Given the description of an element on the screen output the (x, y) to click on. 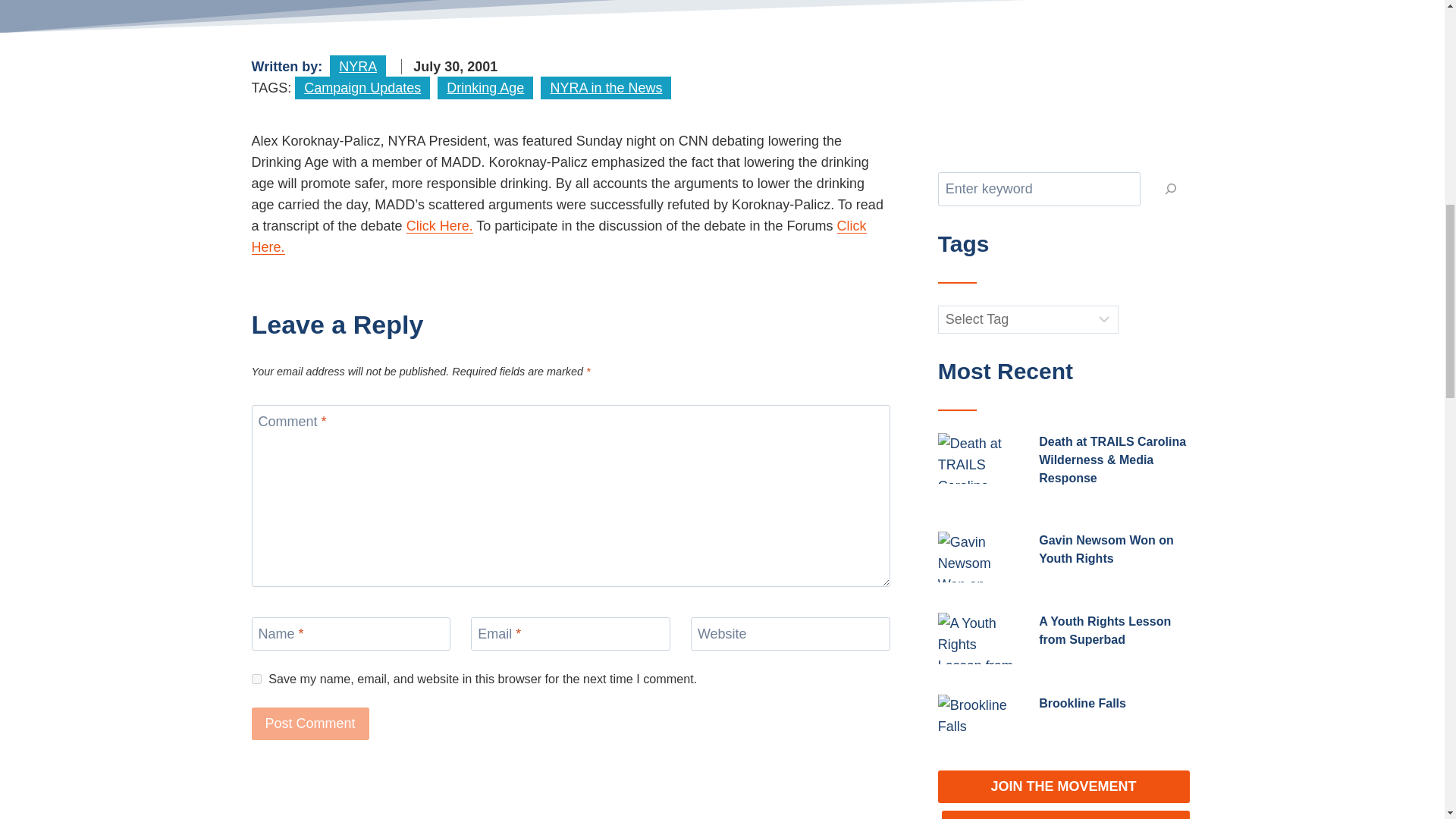
Campaign Updates (362, 87)
Drinking Age (485, 87)
Post Comment (310, 723)
NYRA (357, 66)
yes (256, 678)
NYRA in the News (605, 87)
Click Here. (558, 236)
Click Here. (439, 225)
